Given the description of an element on the screen output the (x, y) to click on. 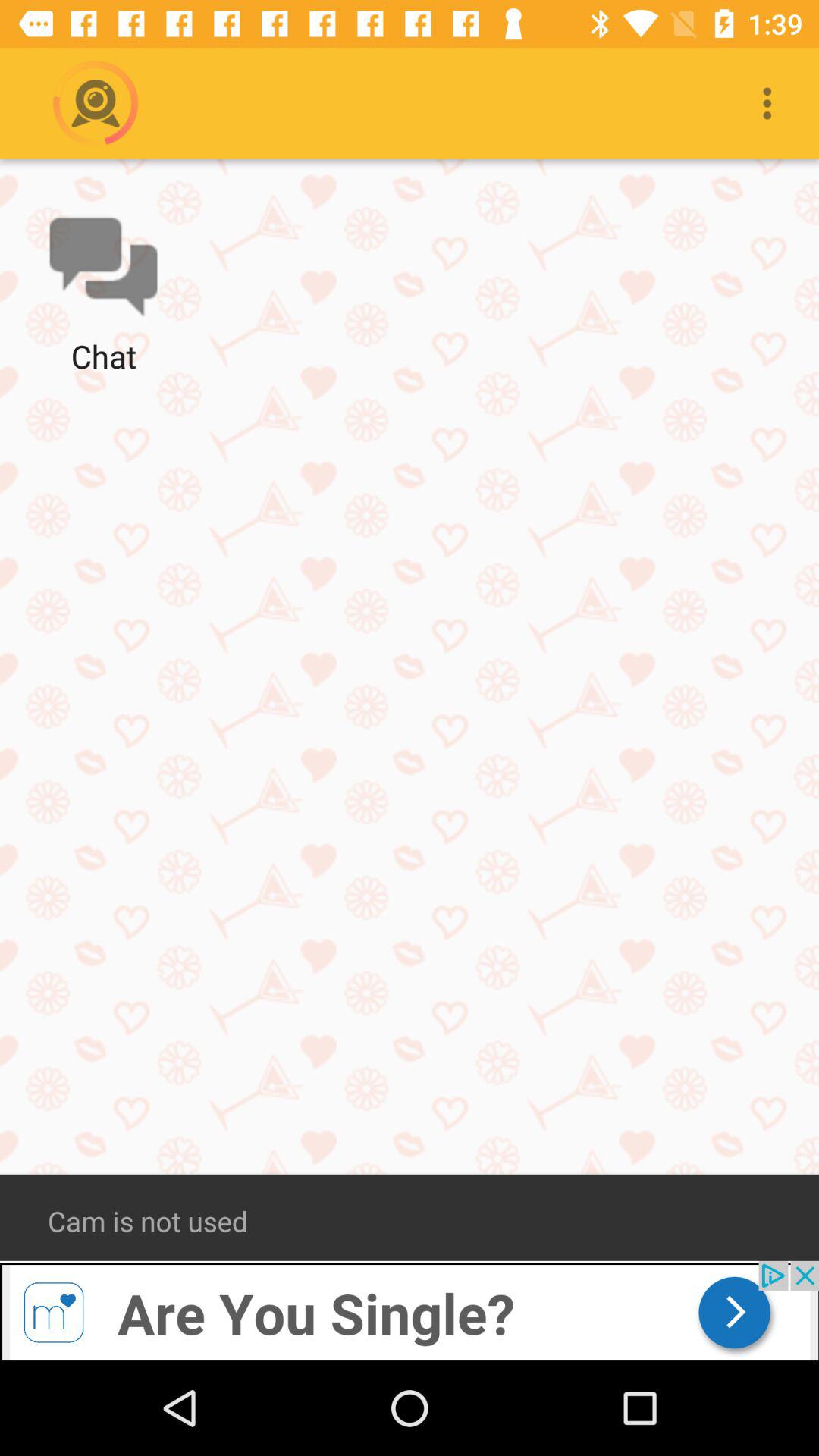
open advertisement (409, 1310)
